Given the description of an element on the screen output the (x, y) to click on. 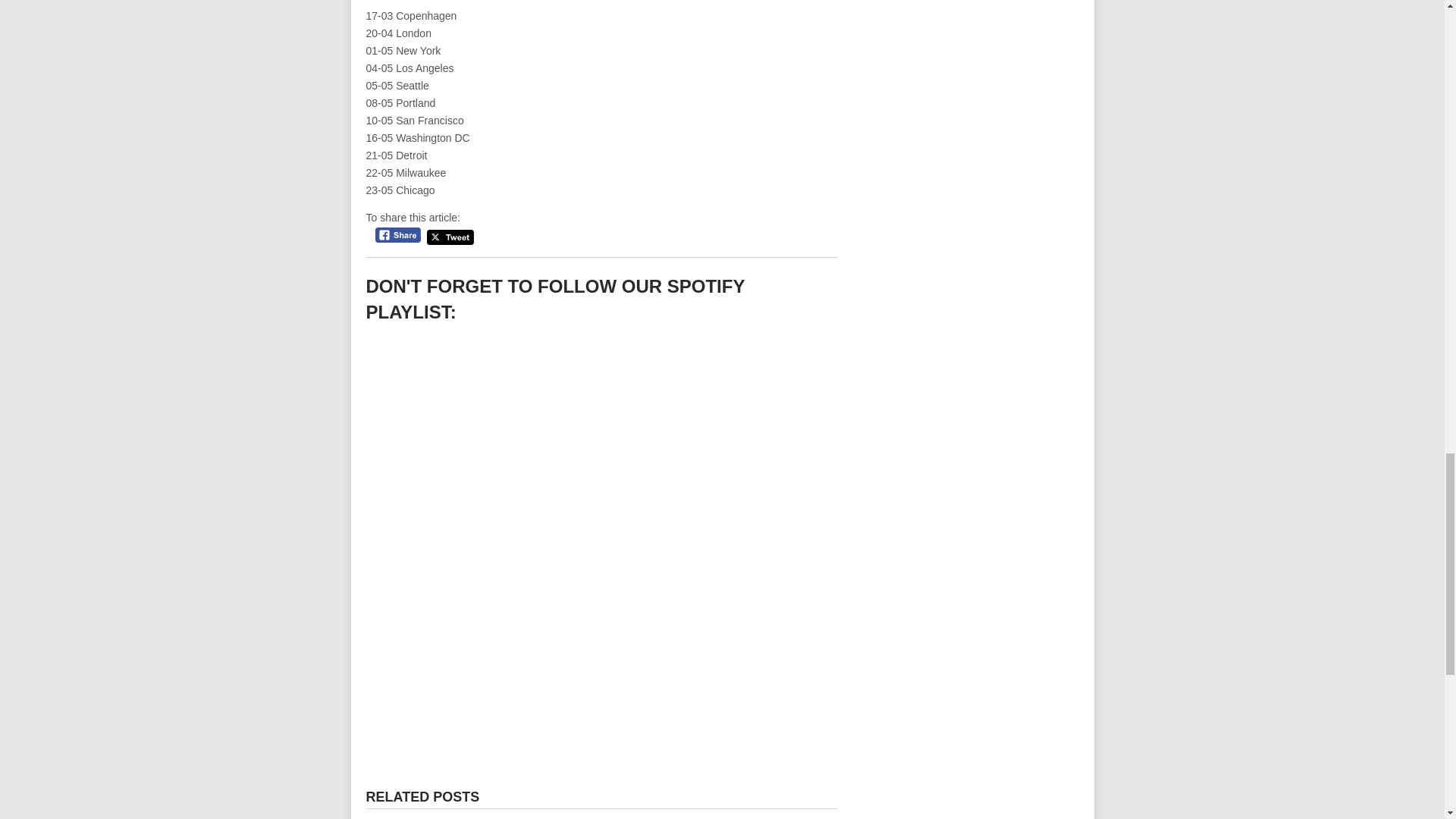
Tweet (450, 237)
Facebook Share (397, 235)
